Given the description of an element on the screen output the (x, y) to click on. 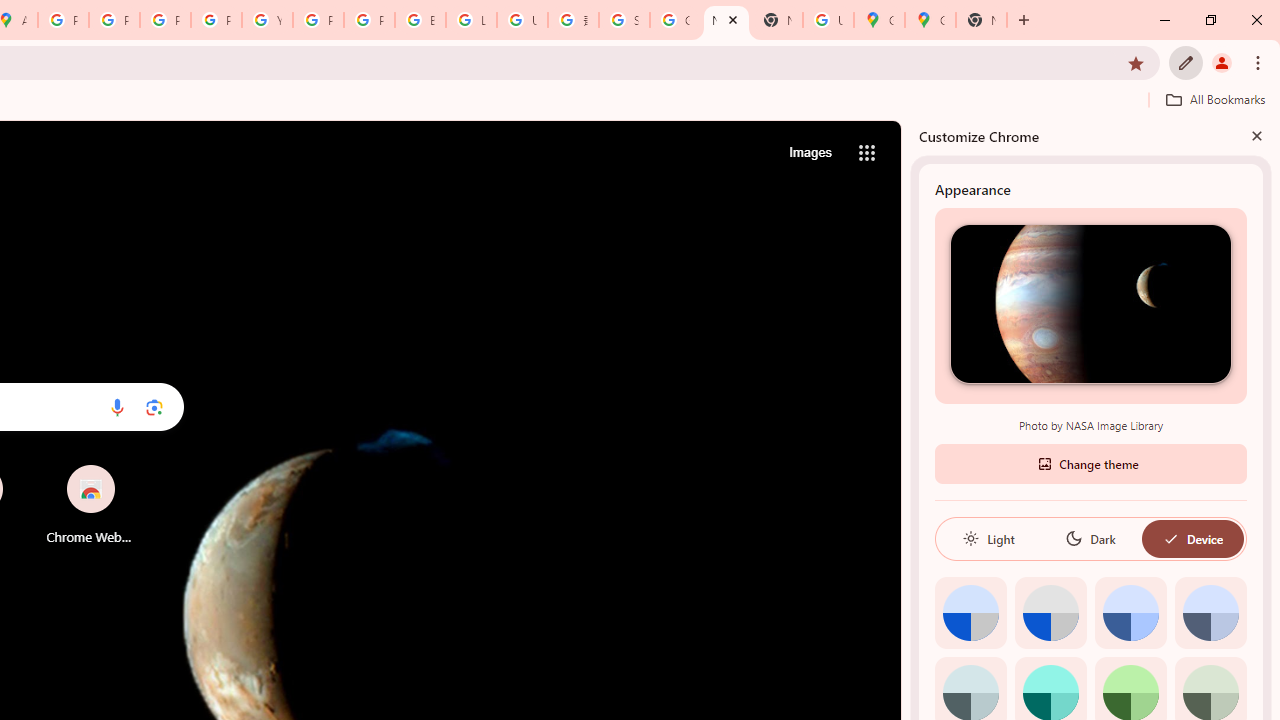
Blue (1130, 612)
Sign in - Google Accounts (624, 20)
Google Maps (930, 20)
Cool grey (1210, 612)
New Tab (776, 20)
Light (988, 538)
Google Maps (878, 20)
Change theme (1090, 462)
